Given the description of an element on the screen output the (x, y) to click on. 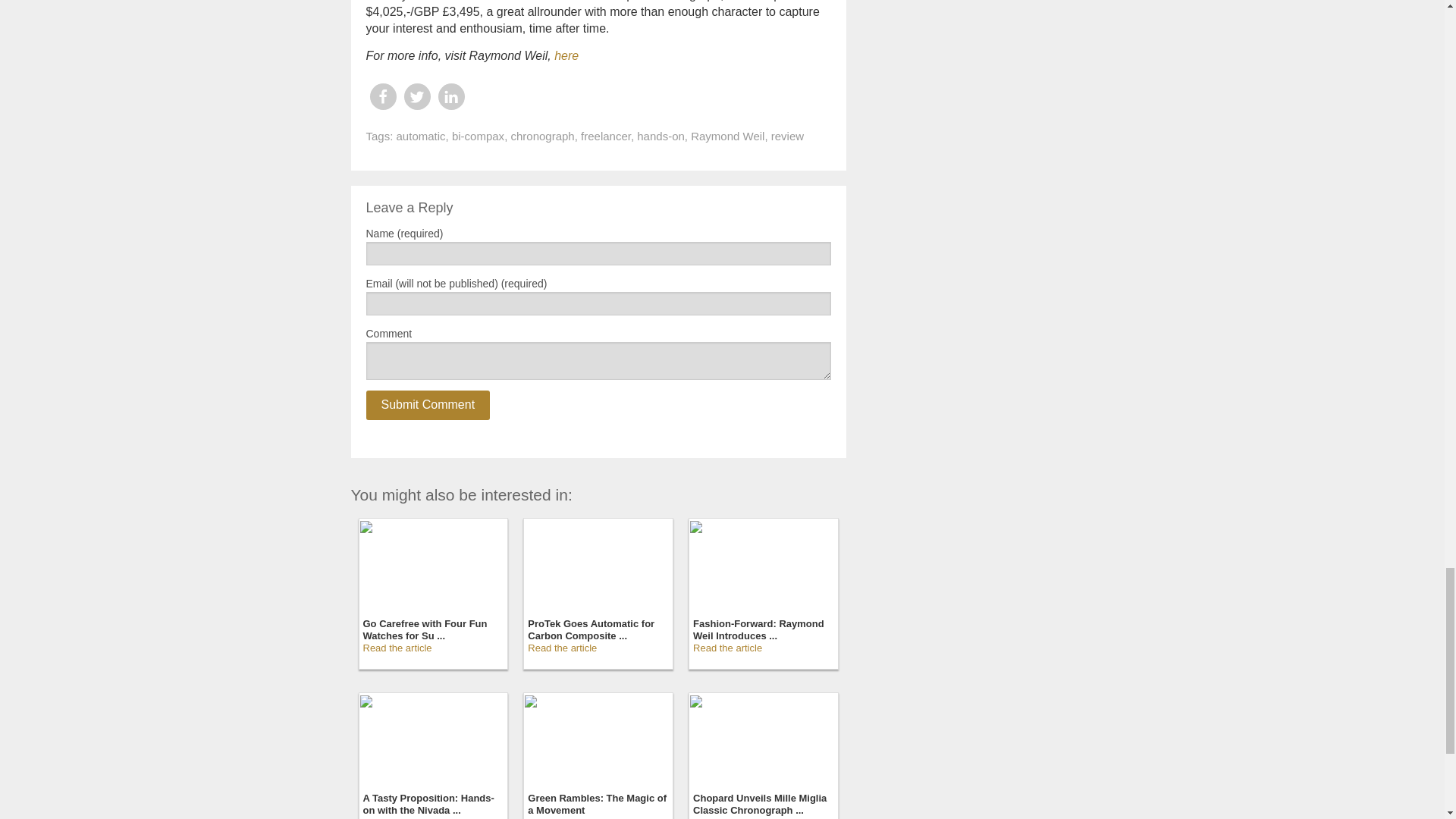
Share on LinkedIn (451, 96)
Submit Comment (427, 405)
Share on Twitter (416, 96)
Share on Facebook (382, 96)
